Given the description of an element on the screen output the (x, y) to click on. 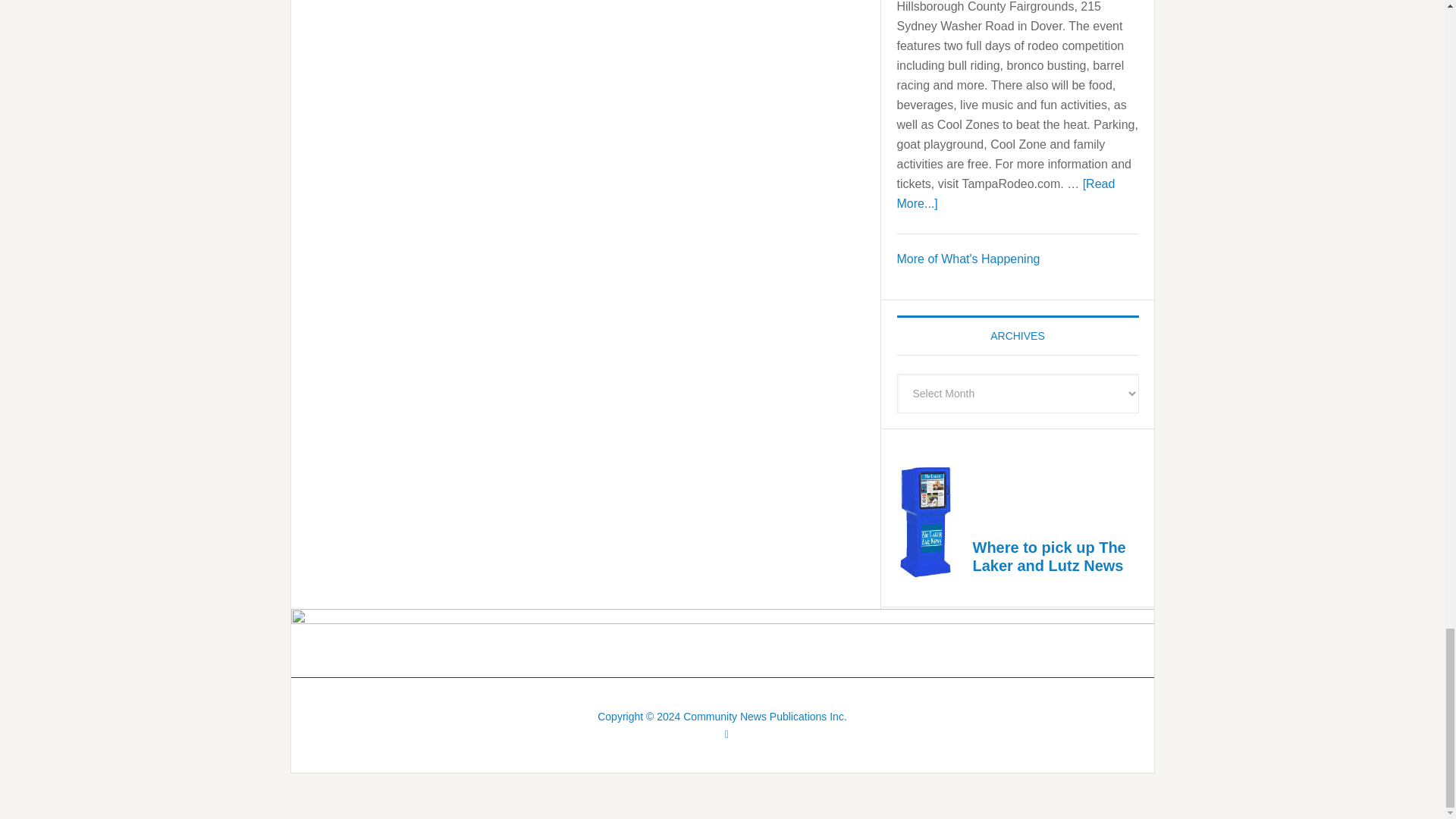
What's Happening (967, 258)
